Given the description of an element on the screen output the (x, y) to click on. 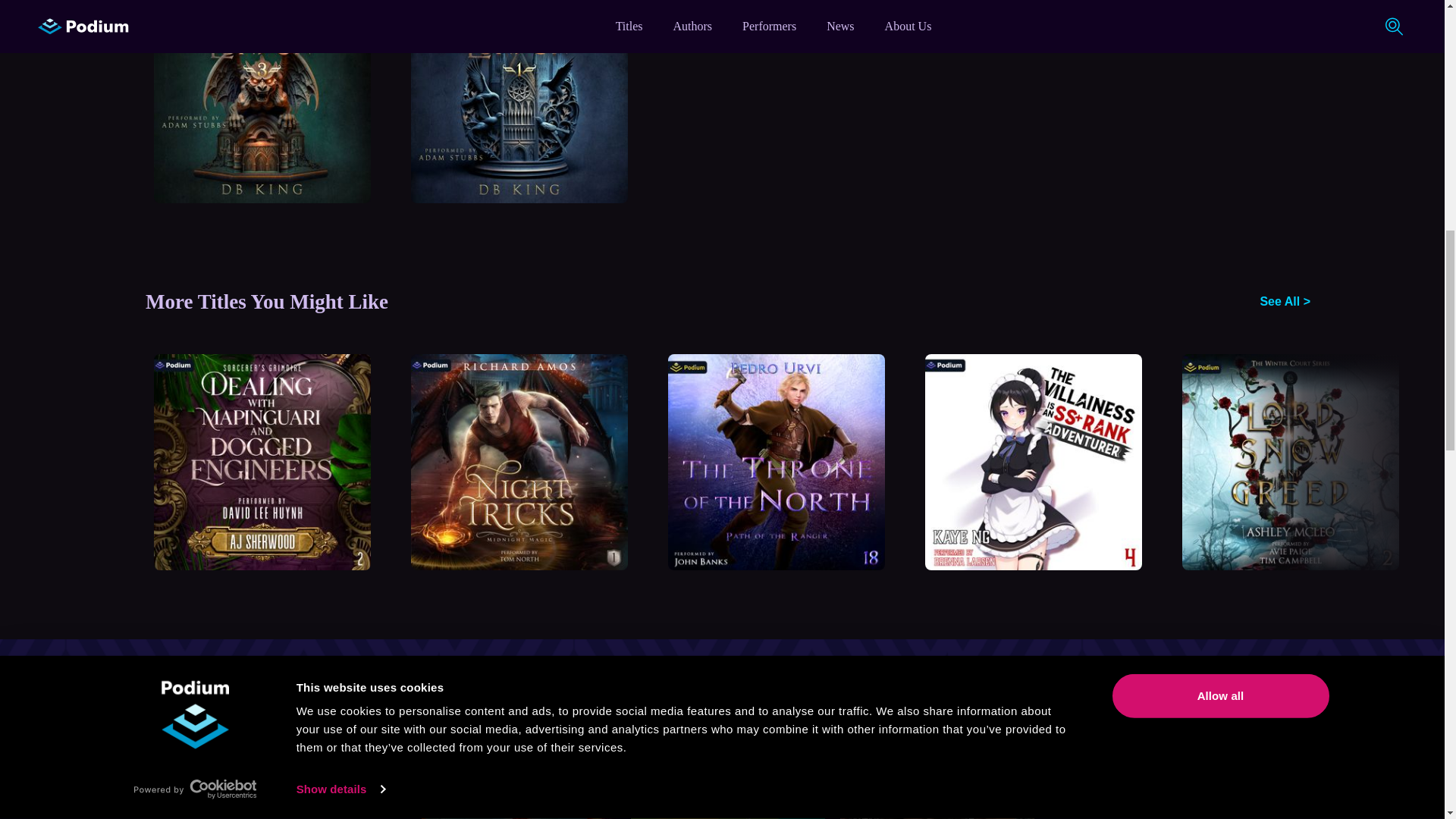
Latest Posts (727, 744)
